Given the description of an element on the screen output the (x, y) to click on. 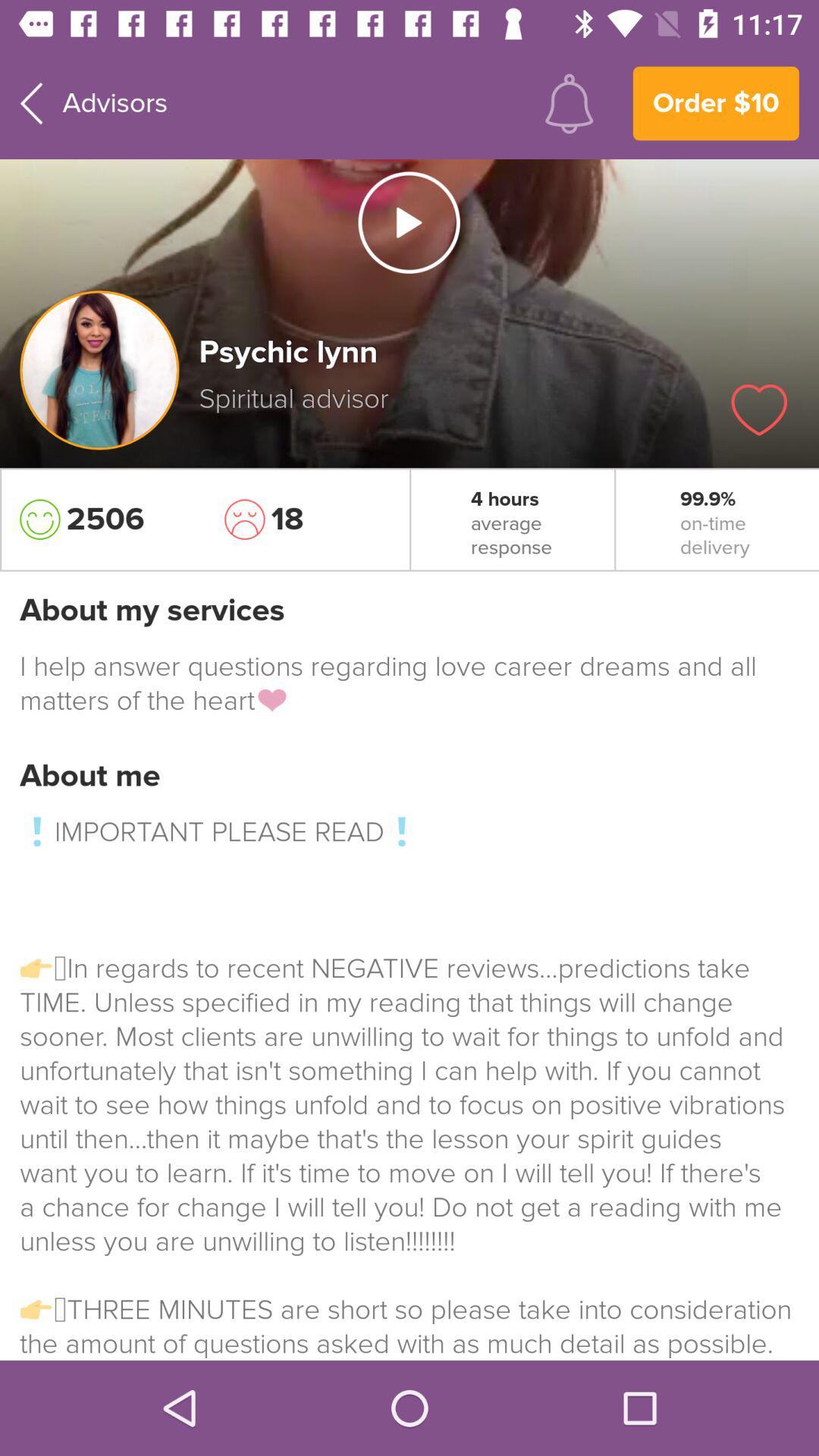
turn off item next to advisors (569, 103)
